Given the description of an element on the screen output the (x, y) to click on. 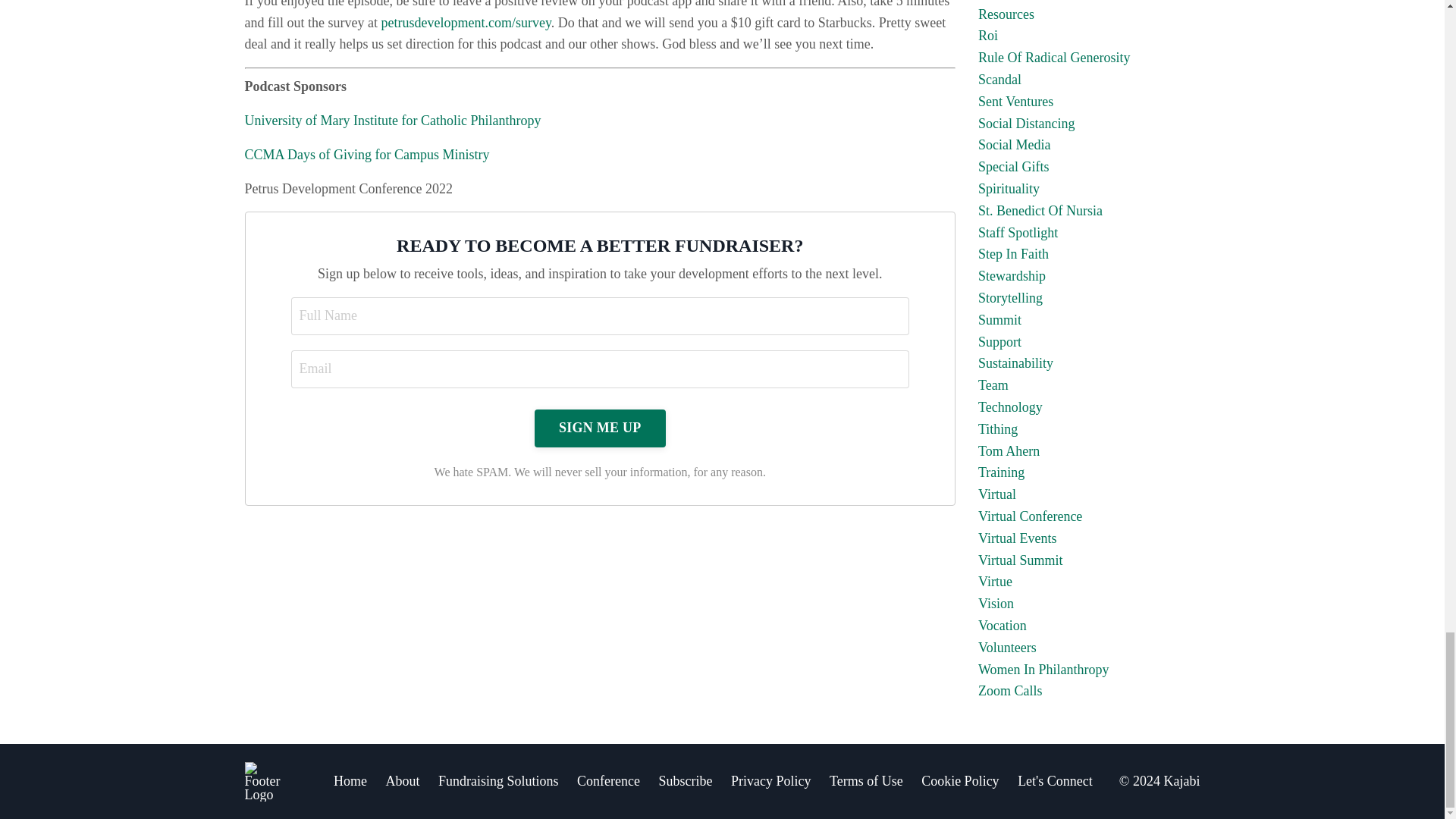
SIGN ME UP (599, 428)
SIGN ME UP (599, 428)
CCMA Days of Giving for Campus Ministry (366, 154)
University of Mary Institute for Catholic Philanthropy (392, 120)
